Given the description of an element on the screen output the (x, y) to click on. 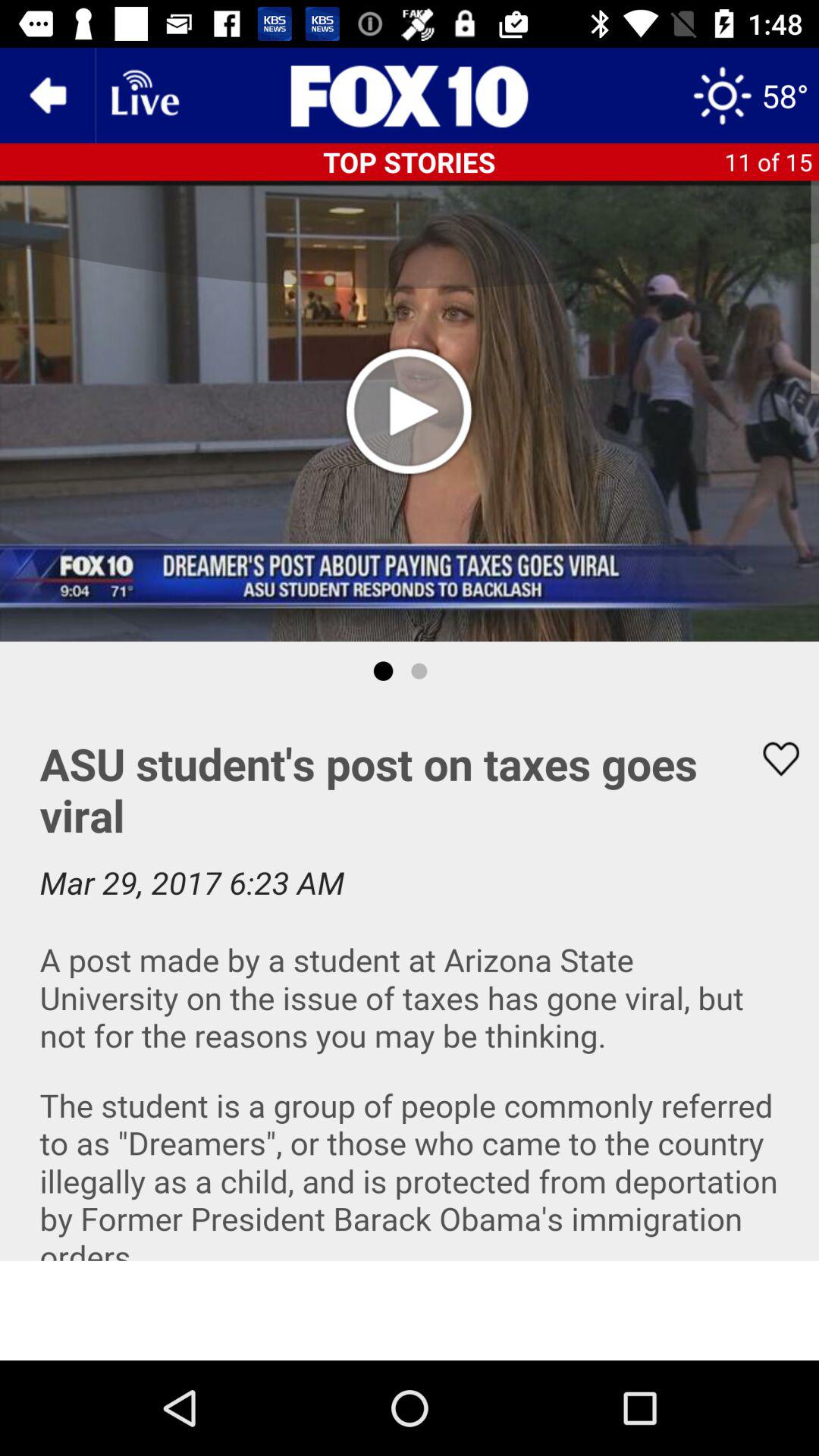
go to live (143, 95)
